Given the description of an element on the screen output the (x, y) to click on. 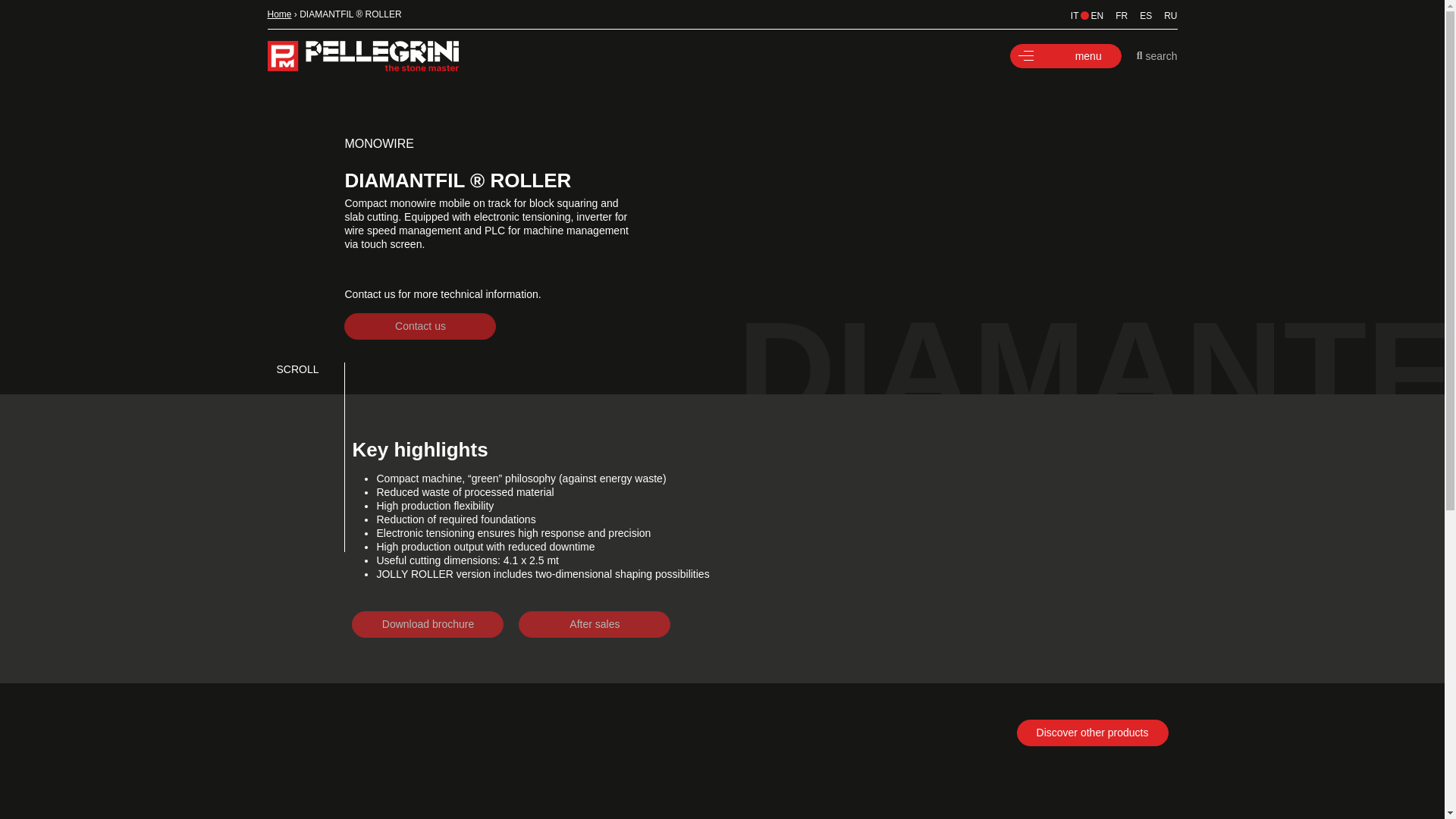
IT (1068, 15)
EN (1090, 15)
menu (1065, 55)
ES (1138, 15)
FR (1114, 15)
Home (278, 14)
RU (1163, 15)
search (1157, 56)
SCROLL (721, 368)
